Given the description of an element on the screen output the (x, y) to click on. 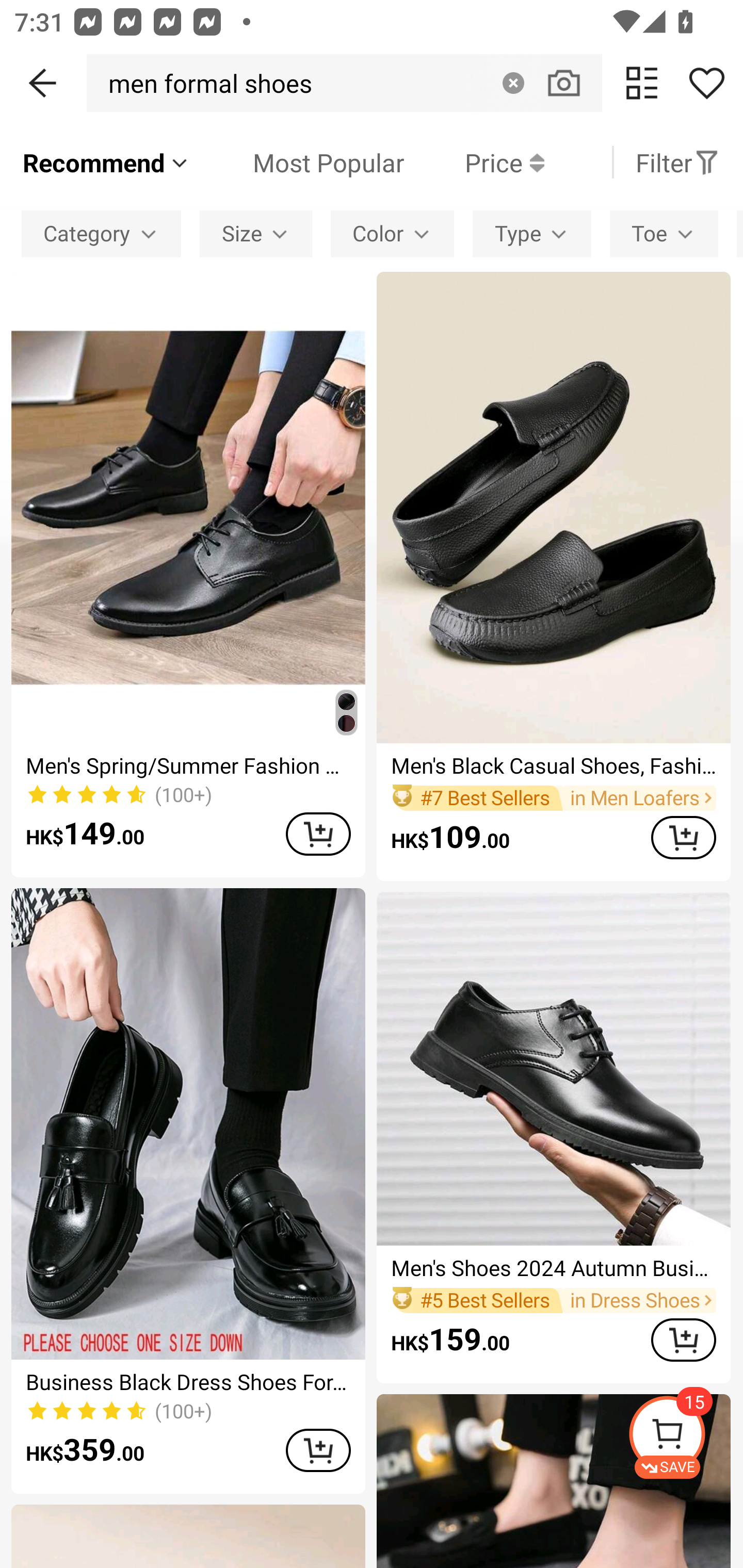
men formal shoes Clear (343, 82)
men formal shoes (204, 82)
Clear (513, 82)
change view (641, 82)
Share (706, 82)
Recommend (106, 162)
Most Popular (297, 162)
Price (474, 162)
Filter (677, 162)
Category (101, 233)
Size (255, 233)
Color (391, 233)
Type (531, 233)
Toe (664, 233)
#7 Best Sellers in Men Loafers (553, 798)
ADD TO CART (318, 834)
ADD TO CART (683, 837)
#5 Best Sellers in Dress Shoes (553, 1299)
ADD TO CART (683, 1339)
SAVE (685, 1436)
ADD TO CART (318, 1450)
